Given the description of an element on the screen output the (x, y) to click on. 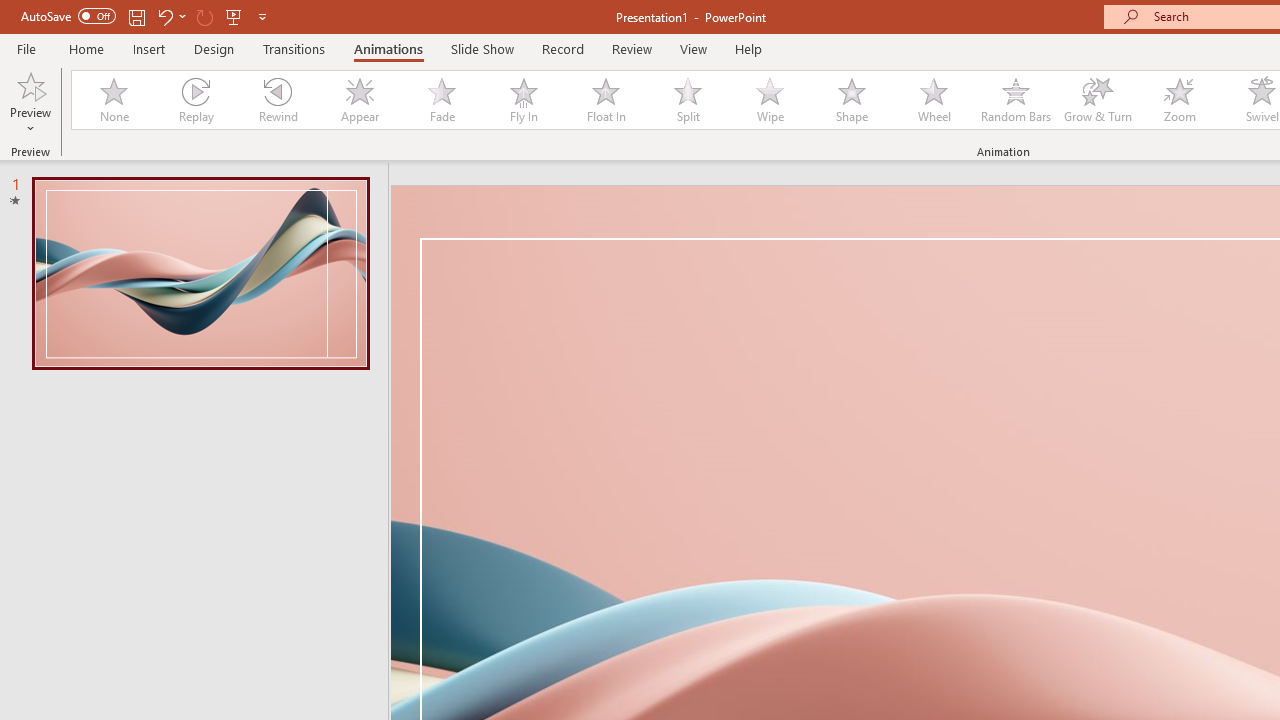
Random Bars (1016, 100)
Fly In (523, 100)
Appear (359, 100)
Float In (605, 100)
